Given the description of an element on the screen output the (x, y) to click on. 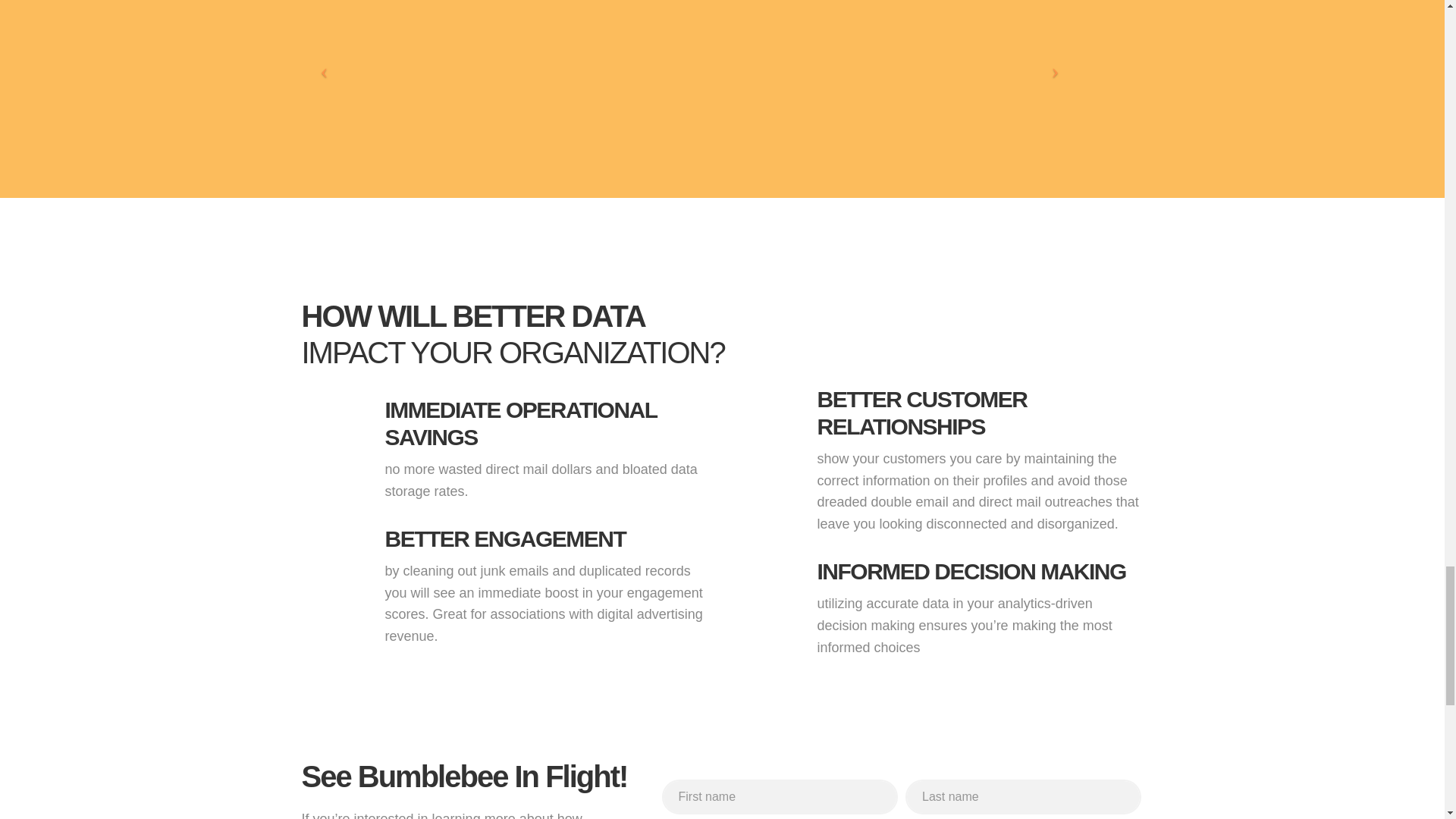
29 (611, 42)
Plumbing-Heating-Cooling Contractors Association (1026, 22)
Independent Educational Consultants Association (819, 42)
23 (404, 42)
